Given the description of an element on the screen output the (x, y) to click on. 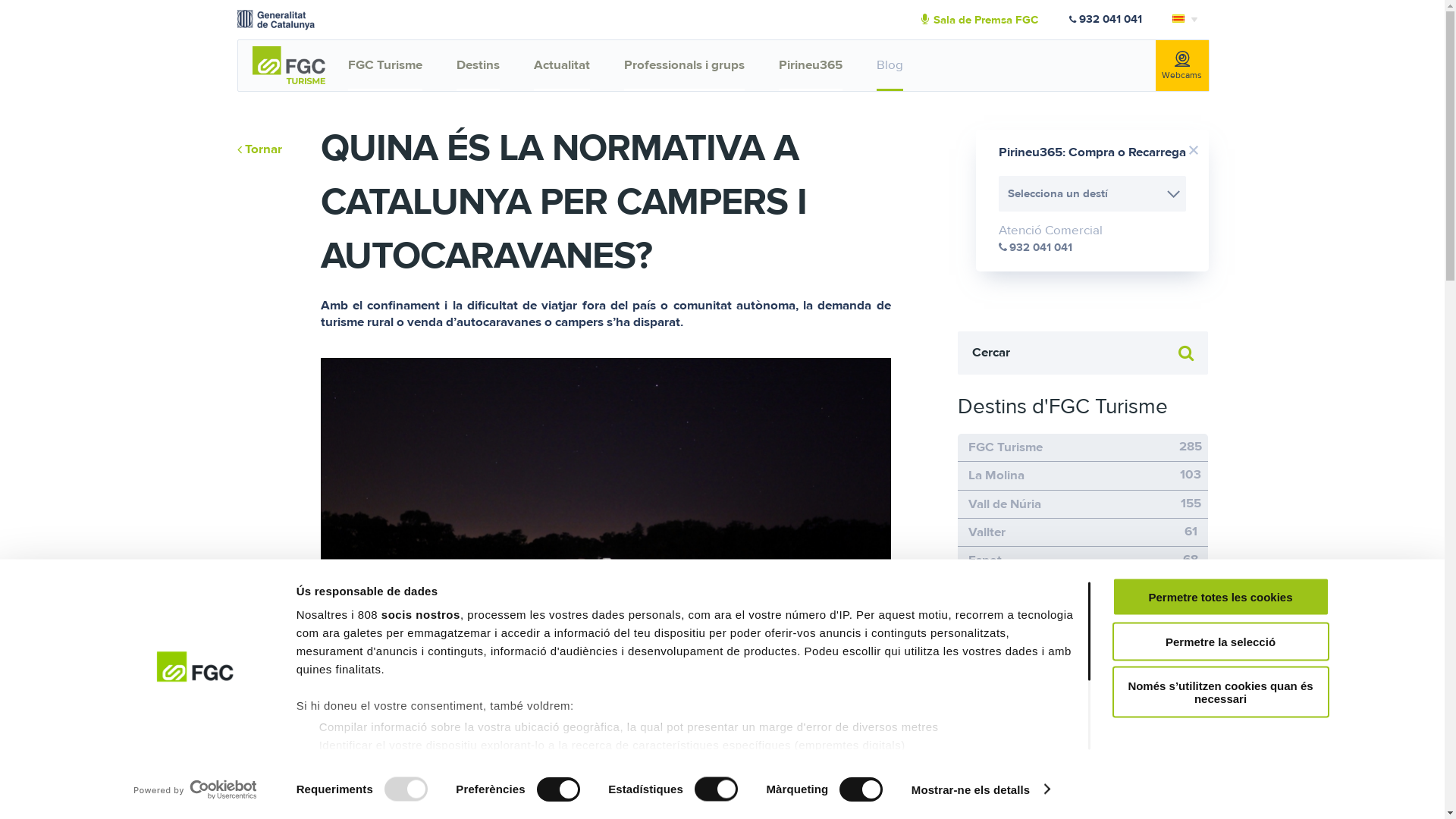
FGC Turisme Element type: text (385, 65)
socis nostros Element type: text (420, 614)
Permetre totes les cookies Element type: text (1219, 596)
Actualitat Element type: text (561, 65)
La Molina Element type: text (995, 475)
Webcams Element type: text (1181, 65)
Pirineu365 Element type: text (810, 65)
FGC Turisme Element type: hover (287, 64)
Oci en Familia Element type: text (1007, 789)
Rob Hayman Element type: text (778, 758)
Espot Element type: text (984, 560)
Turistren Element type: text (993, 673)
Unsplash Element type: text (861, 758)
FGC Turisme Element type: text (1004, 447)
Sala de Premsa FGC Element type: text (994, 19)
Vallter Element type: text (985, 532)
Professionals i grups Element type: text (684, 65)
Blog Element type: text (889, 65)
Generalitat de Catalunya Element type: hover (274, 19)
Mostrar-ne els detalls Element type: text (980, 789)
Destins Element type: text (477, 65)
Skipallars Element type: text (994, 645)
Tornar Element type: text (258, 149)
